Given the description of an element on the screen output the (x, y) to click on. 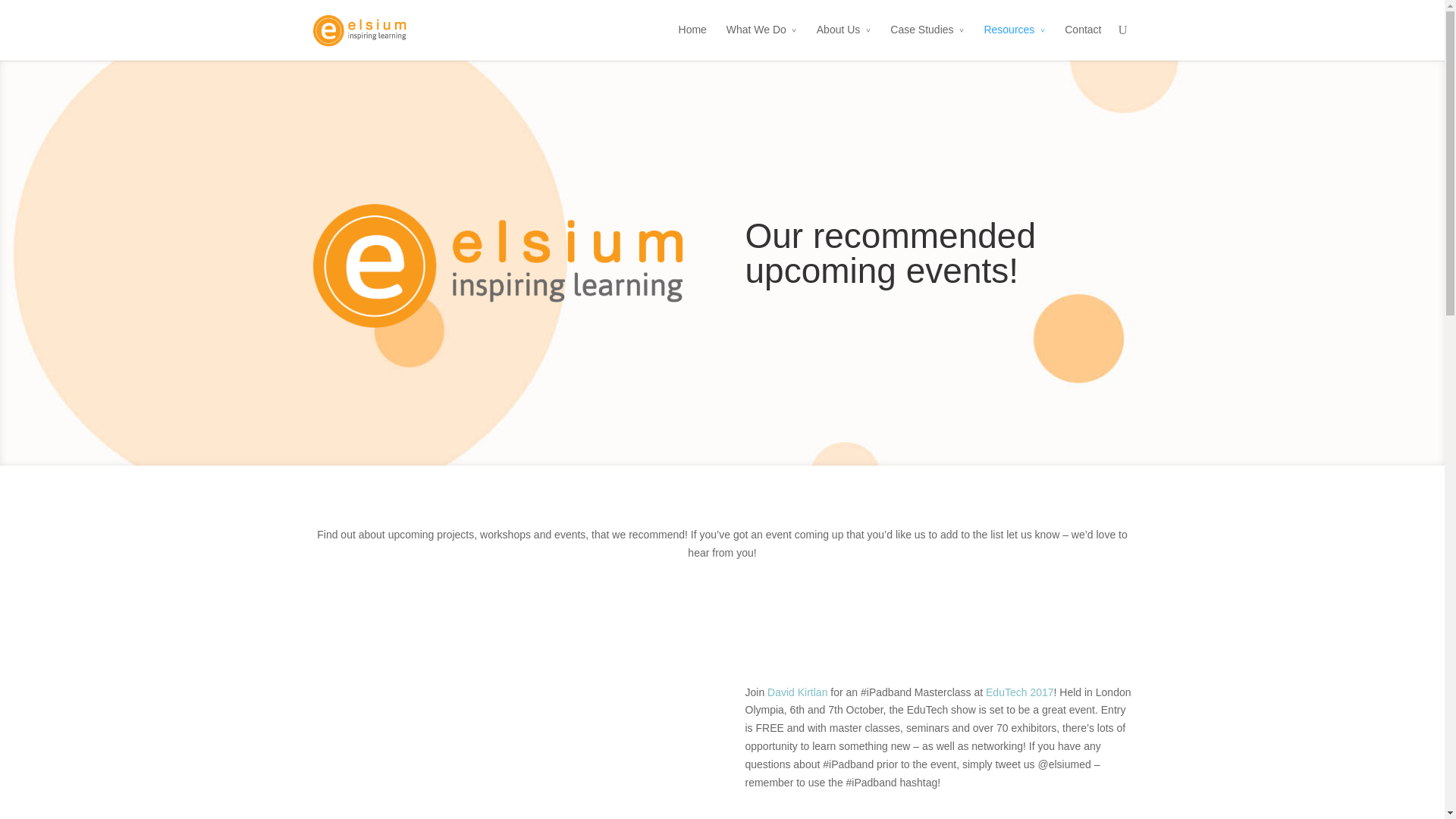
Contact (1082, 40)
About Us (843, 40)
Case Studies (926, 40)
What We Do (761, 40)
Resources (1014, 40)
